Given the description of an element on the screen output the (x, y) to click on. 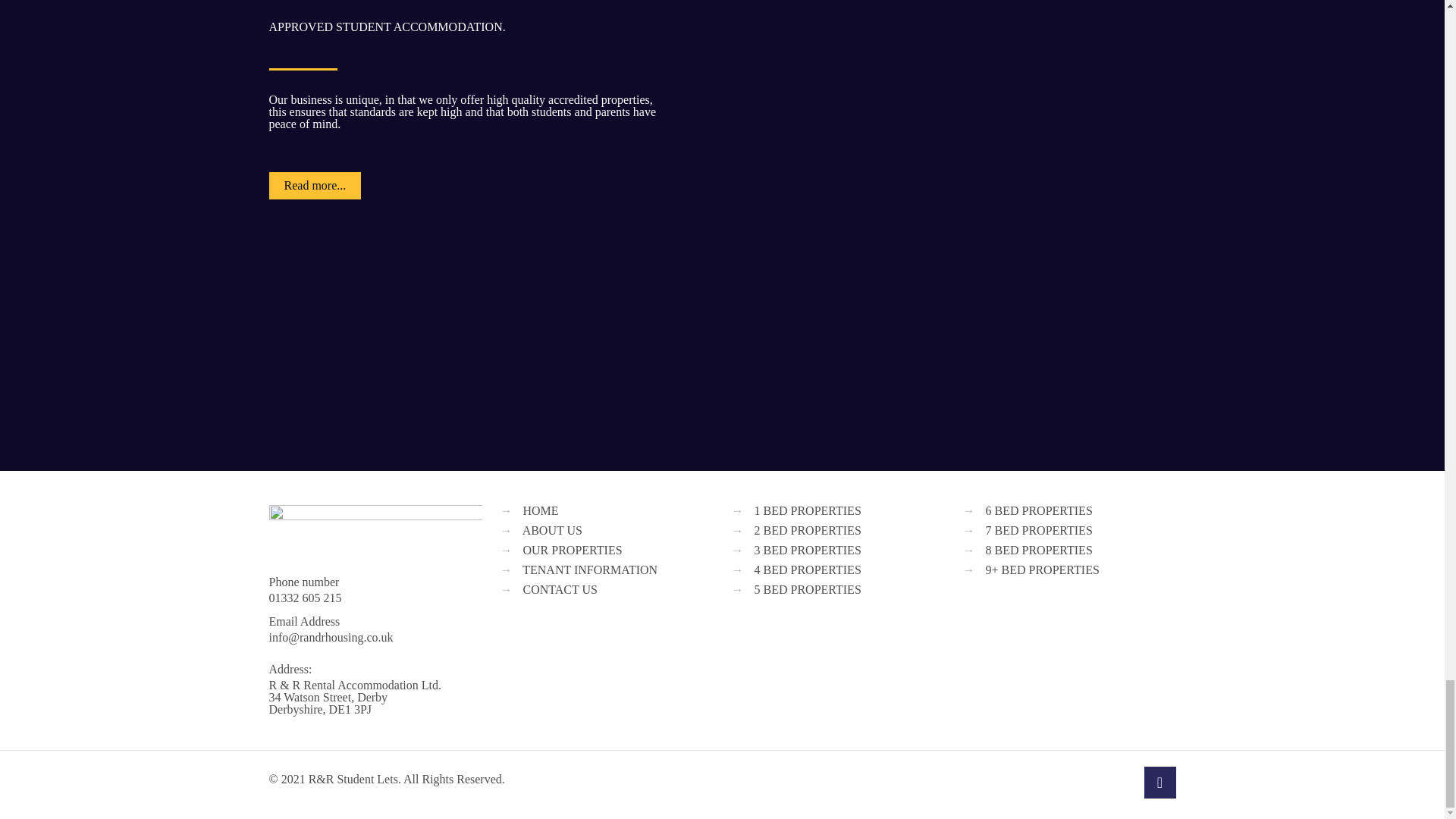
3 BED PROPERTIES (807, 549)
4 BED PROPERTIES (807, 569)
OUR PROPERTIES (572, 549)
1 BED PROPERTIES (807, 510)
TENANT INFORMATION (590, 569)
2 BED PROPERTIES (807, 530)
CONTACT US (559, 589)
ABOUT US (552, 530)
Read more... (314, 185)
HOME (540, 510)
01332 605 215 (303, 597)
